Given the description of an element on the screen output the (x, y) to click on. 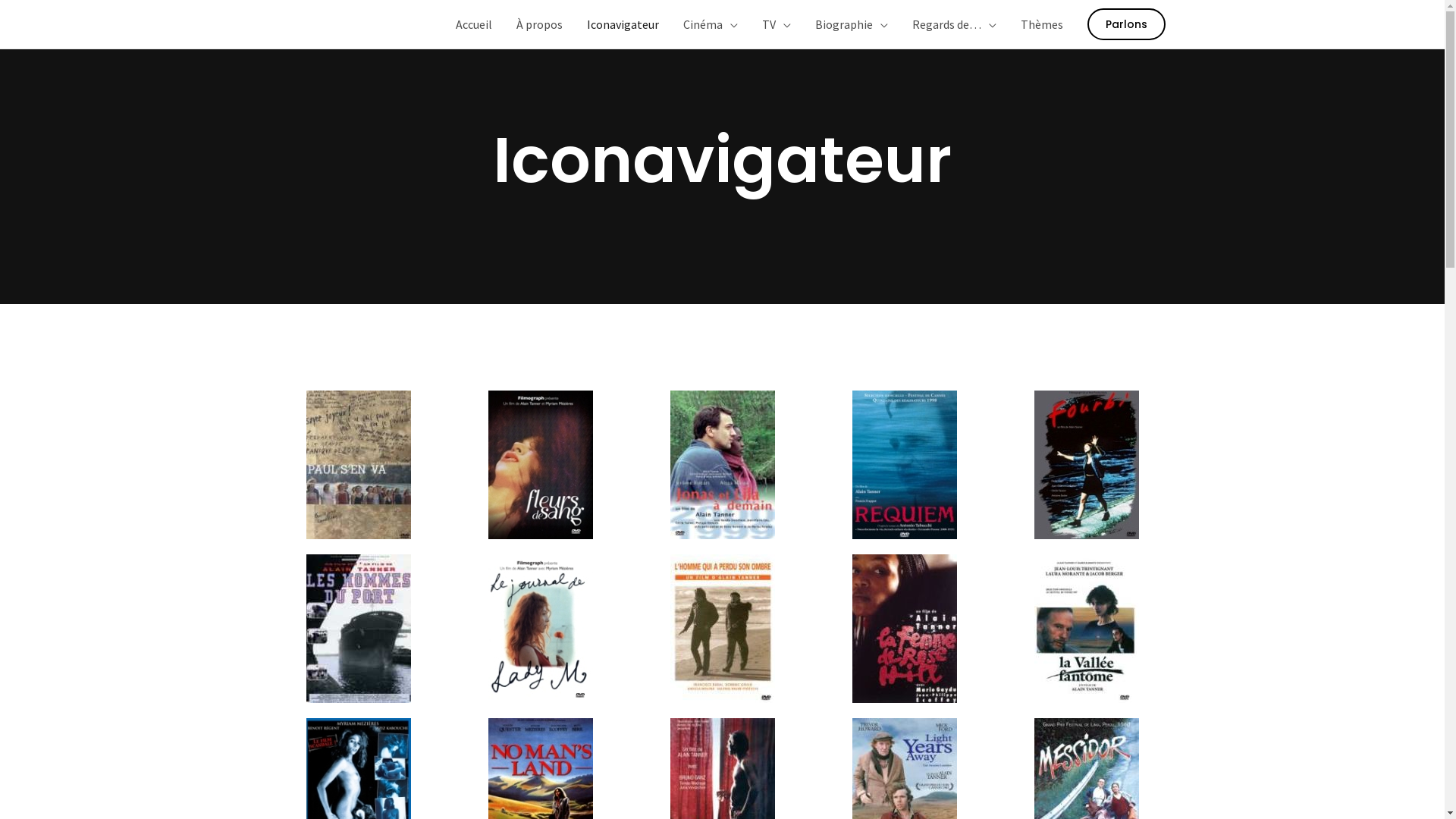
TV Element type: text (775, 24)
Parlons Element type: text (1126, 24)
Accueil Element type: text (472, 24)
Biographie Element type: text (850, 24)
Iconavigateur Element type: text (622, 24)
